Given the description of an element on the screen output the (x, y) to click on. 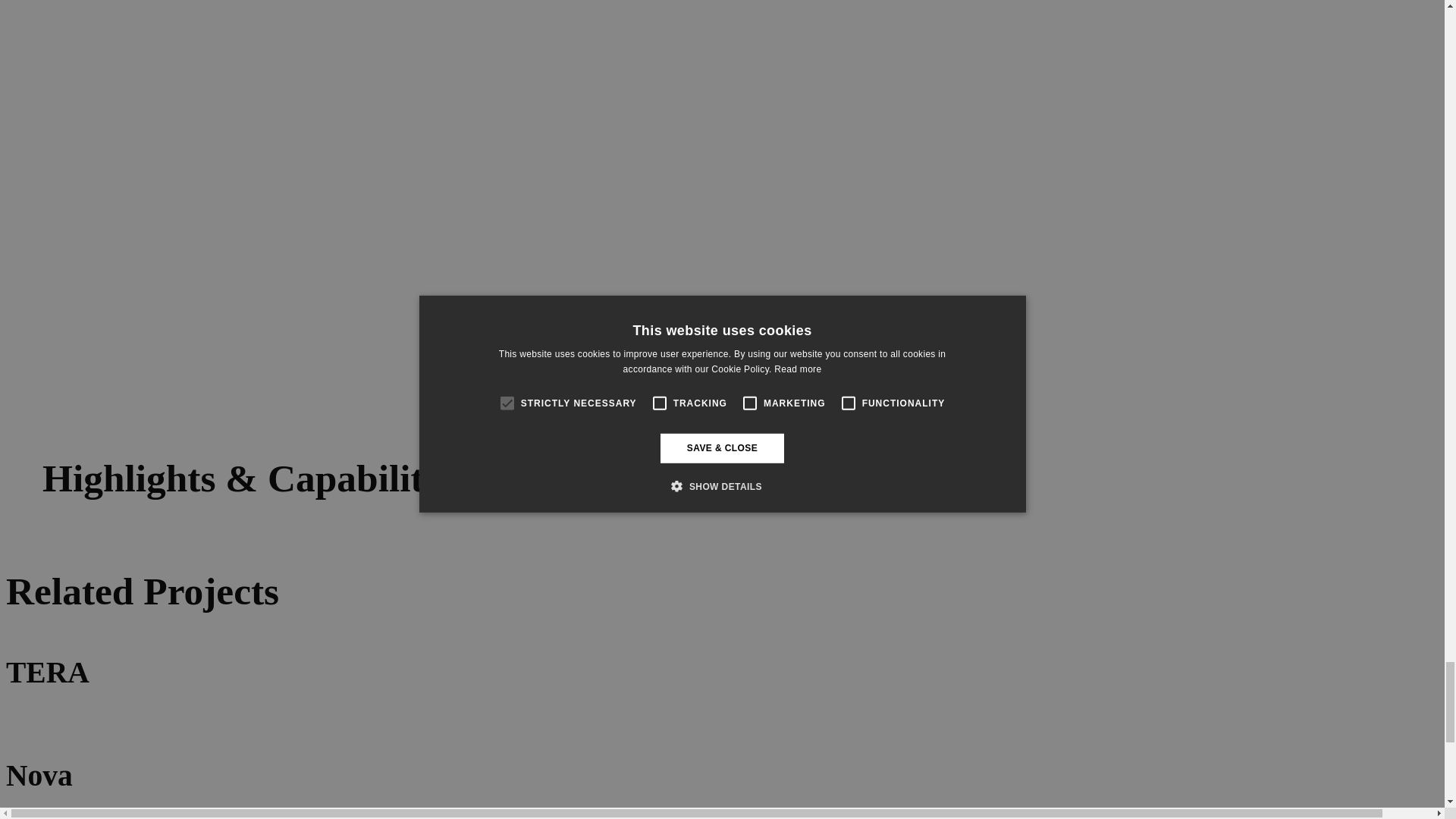
Nova (721, 782)
TERA (721, 679)
